Given the description of an element on the screen output the (x, y) to click on. 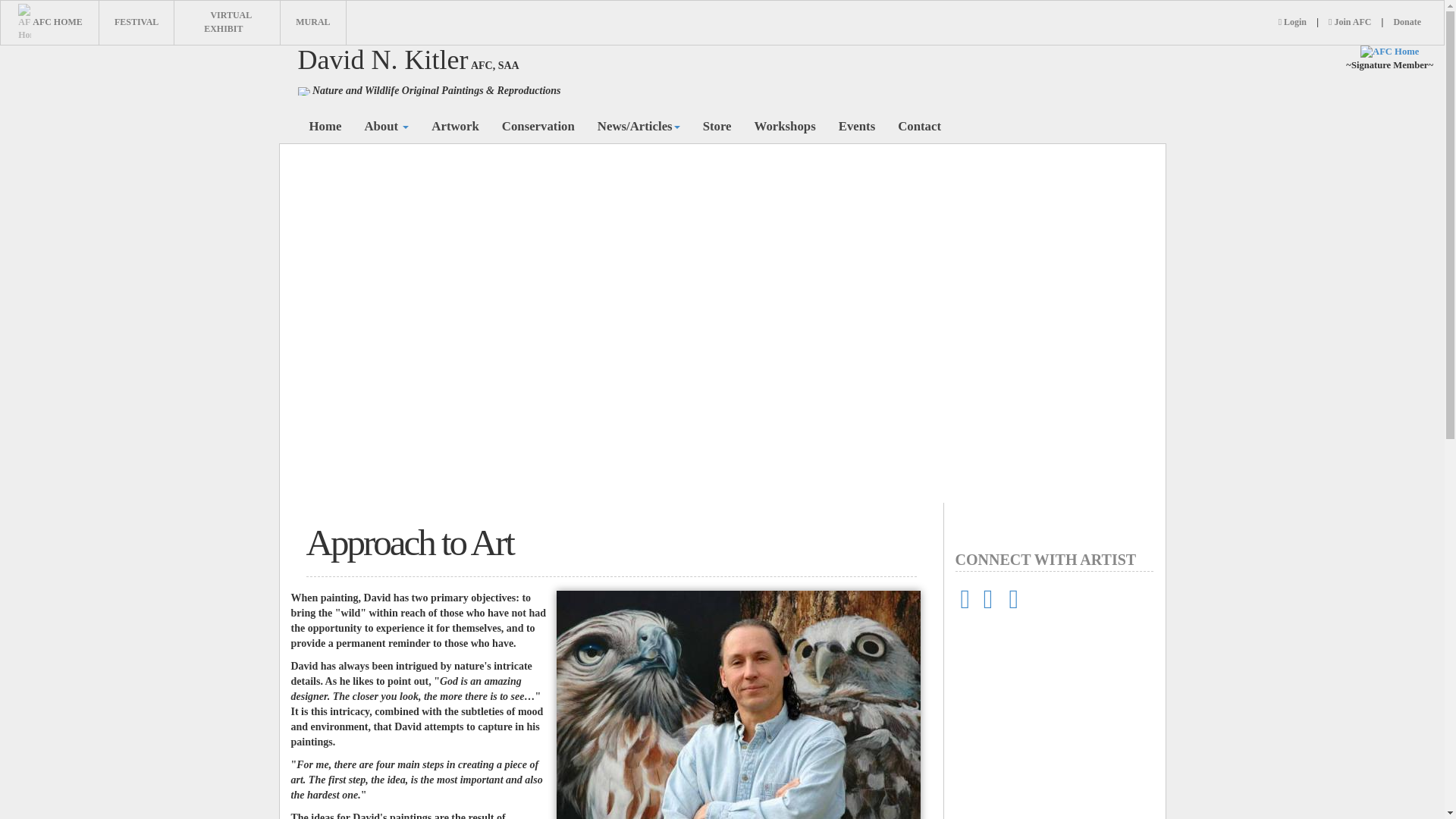
VIRTUAL EXHIBIT (227, 21)
AFC Home (1388, 51)
Canada (302, 90)
Join AFC (1349, 21)
Home (324, 126)
Artwork (454, 126)
MURAL (312, 21)
Conservation (538, 126)
AFC HOME (49, 21)
Login (1292, 21)
FESTIVAL (136, 21)
About (386, 126)
Donate (1407, 21)
